Given the description of an element on the screen output the (x, y) to click on. 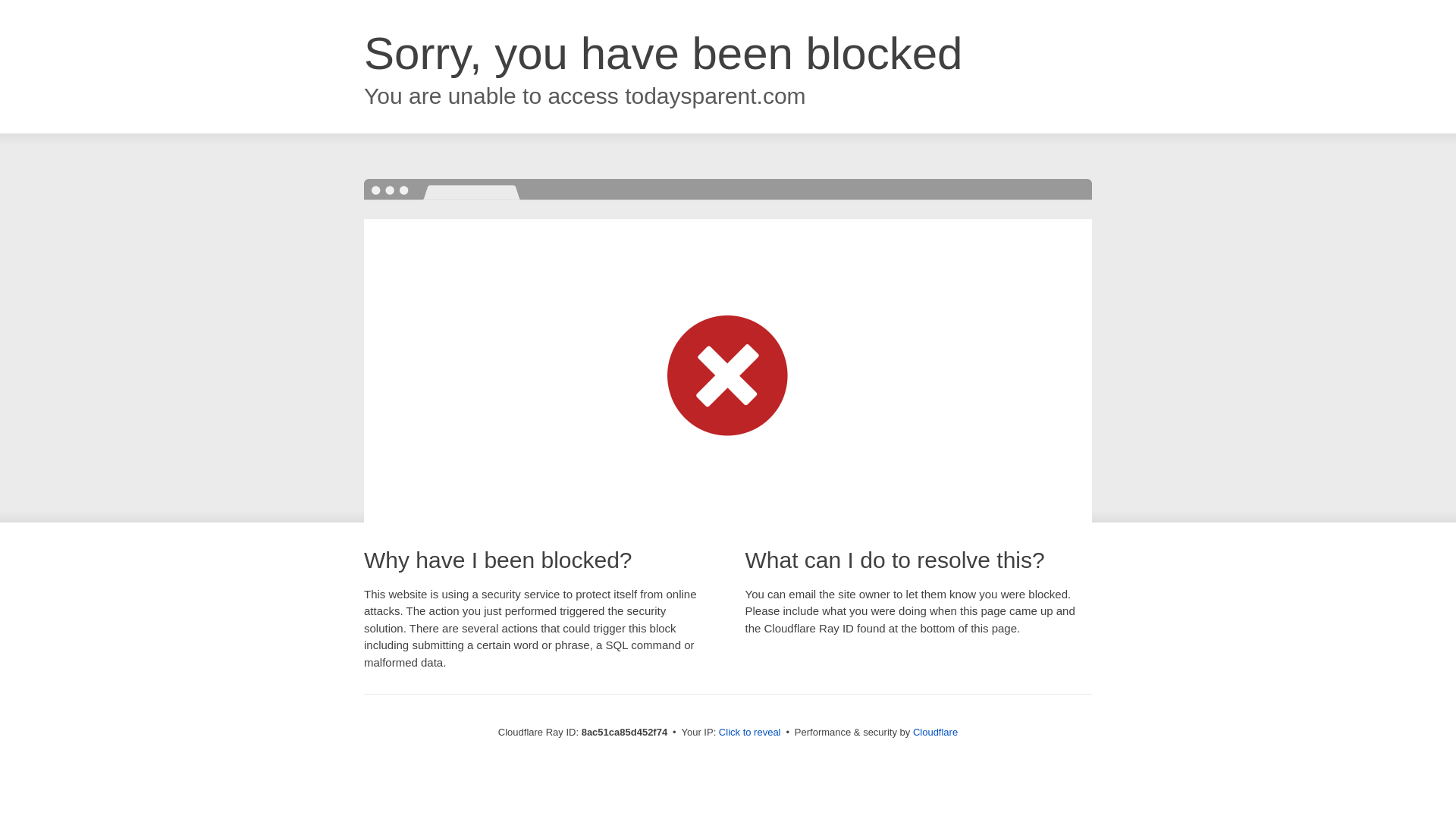
Click to reveal (749, 732)
Cloudflare (935, 731)
